Given the description of an element on the screen output the (x, y) to click on. 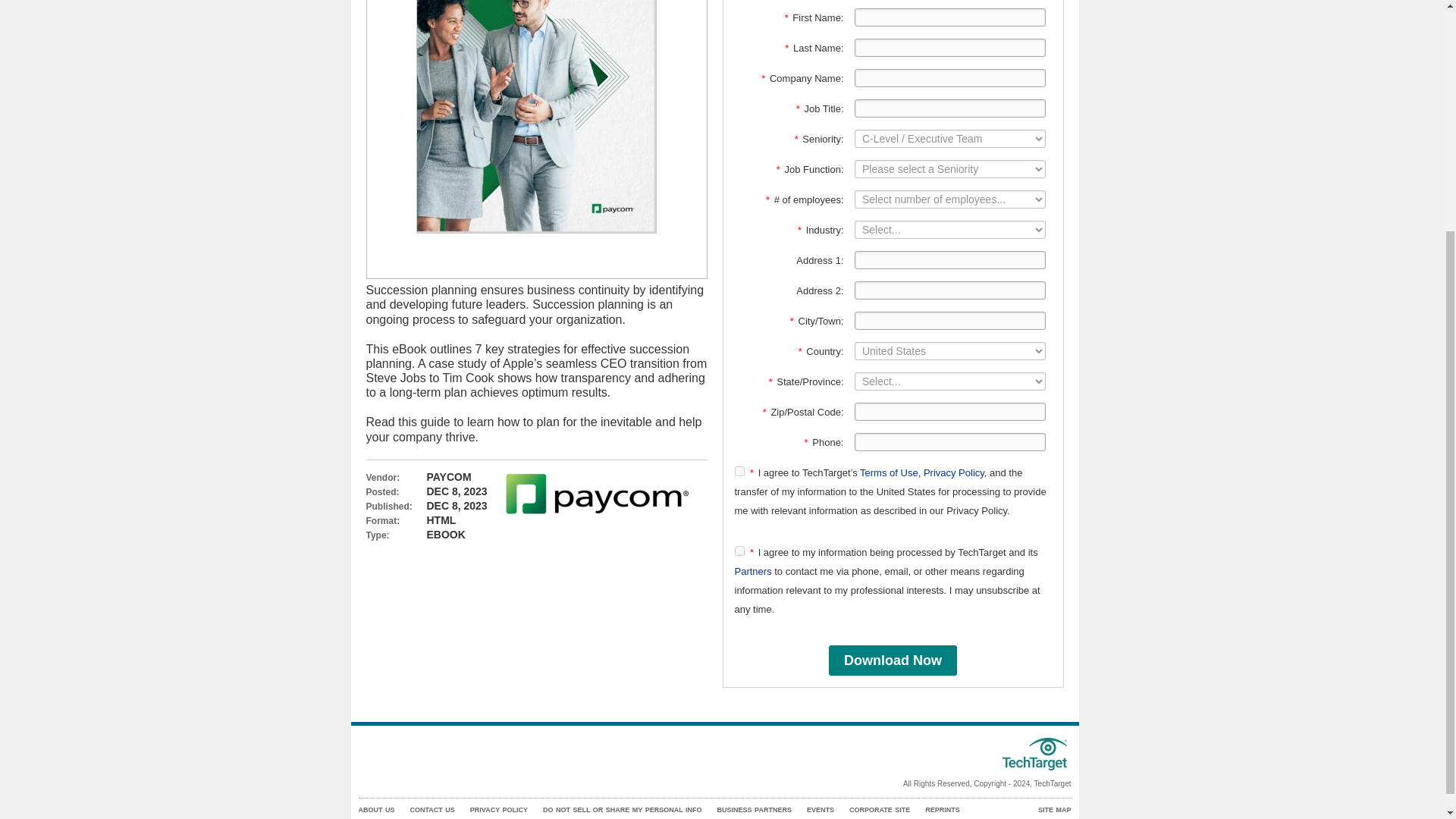
true (738, 470)
ABOUT US (376, 809)
DO NOT SELL OR SHARE MY PERSONAL INFO (622, 809)
CONTACT US (431, 809)
true (738, 551)
Download Now (892, 660)
BUSINESS PARTNERS (754, 809)
Terms of Use (889, 472)
CORPORATE SITE (879, 809)
EVENTS (820, 809)
